Given the description of an element on the screen output the (x, y) to click on. 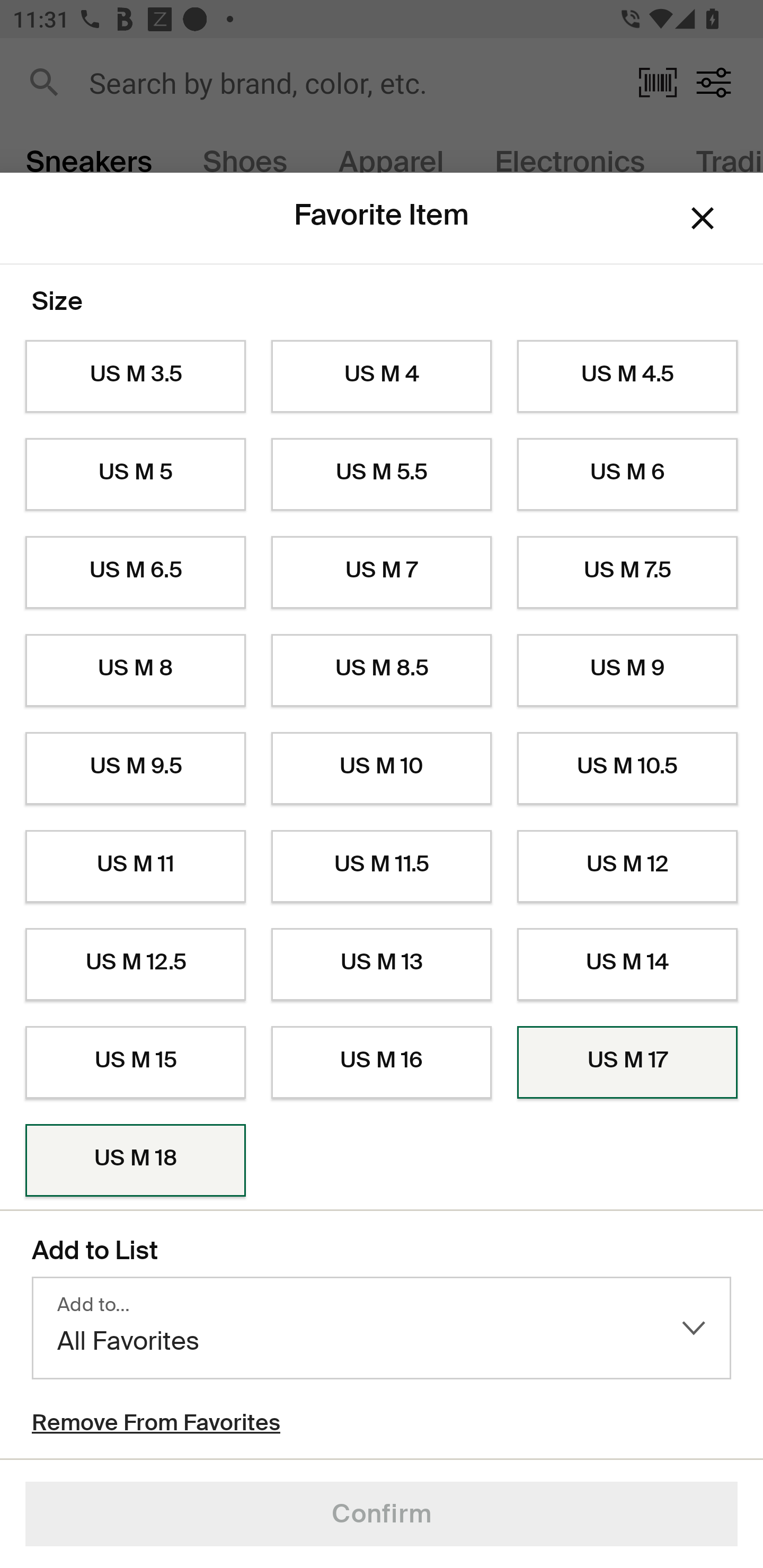
Dismiss (702, 218)
US M 3.5 (135, 376)
US M 4 (381, 376)
US M 4.5 (627, 376)
US M 5 (135, 473)
US M 5.5 (381, 473)
US M 6 (627, 473)
US M 6.5 (135, 572)
US M 7 (381, 572)
US M 7.5 (627, 572)
US M 8 (135, 669)
US M 8.5 (381, 669)
US M 9 (627, 669)
US M 9.5 (135, 768)
US M 10 (381, 768)
US M 10.5 (627, 768)
US M 11 (135, 865)
US M 11.5 (381, 865)
US M 12 (627, 865)
US M 12.5 (135, 964)
US M 13 (381, 964)
US M 14 (627, 964)
US M 15 (135, 1061)
US M 16 (381, 1061)
US M 17 (627, 1061)
US M 18 (135, 1160)
Add to… All Favorites (381, 1327)
Remove From Favorites (156, 1424)
Confirm (381, 1513)
